Given the description of an element on the screen output the (x, y) to click on. 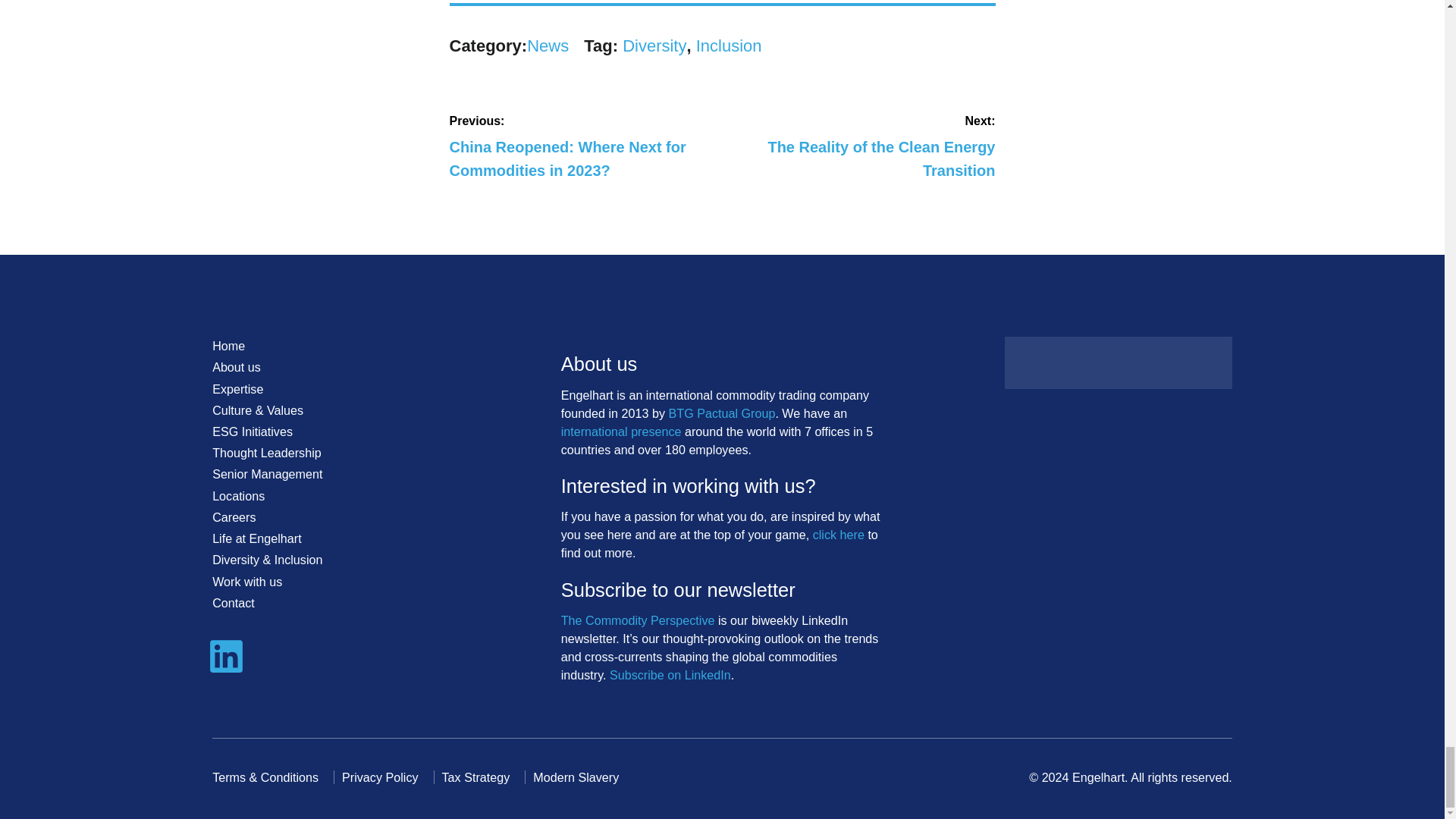
Home (228, 345)
Diversity (654, 45)
News (548, 45)
Inclusion (861, 147)
